Given the description of an element on the screen output the (x, y) to click on. 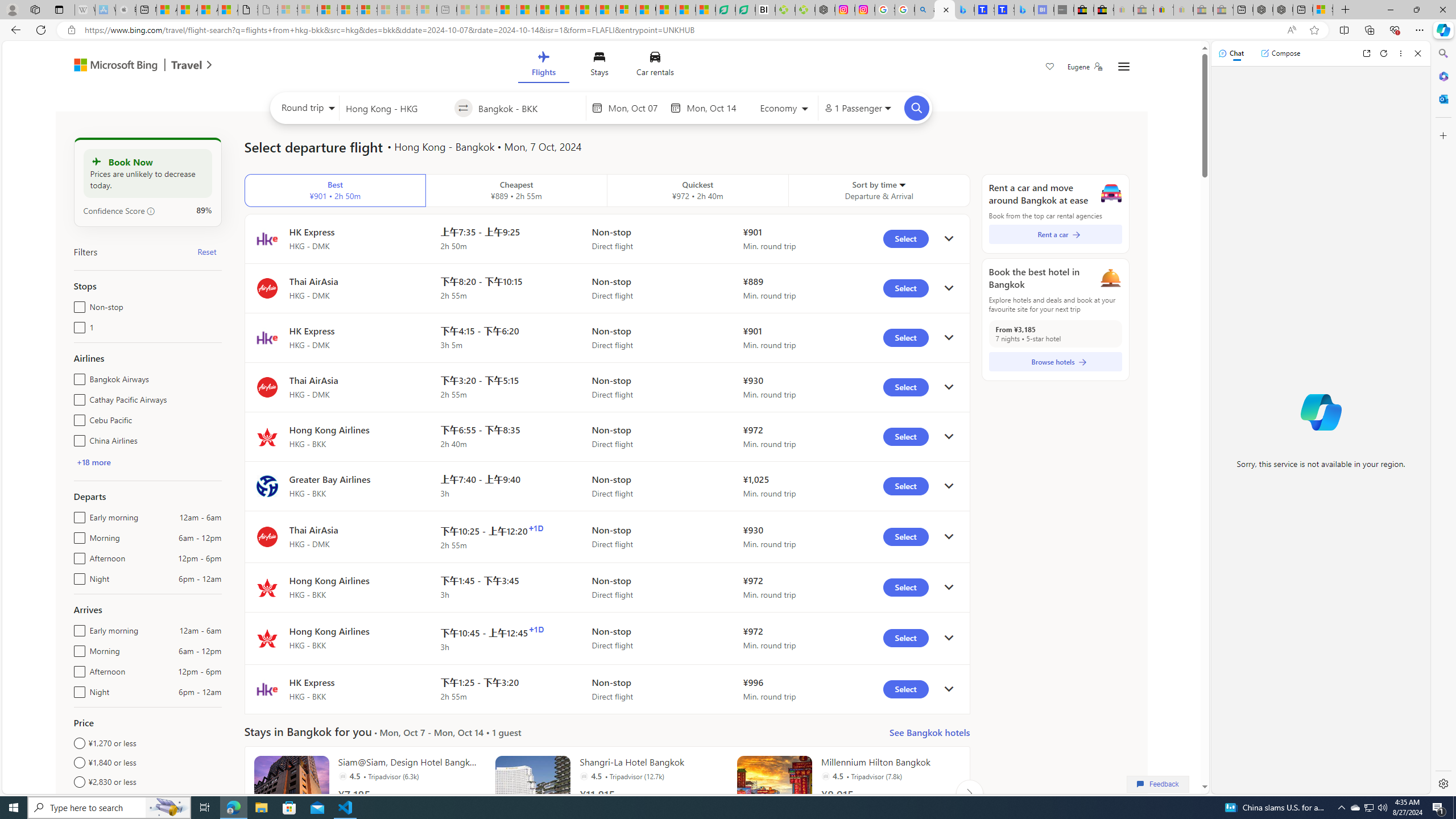
+18 more (92, 461)
Tripadvisor (825, 775)
Drinking tea every day is proven to delay biological aging (565, 9)
Save (1049, 67)
Start Date (636, 107)
Nordace - Summer Adventures 2024 (1282, 9)
Aberdeen, Hong Kong SAR weather forecast | Microsoft Weather (186, 9)
Flight logo (267, 689)
